Given the description of an element on the screen output the (x, y) to click on. 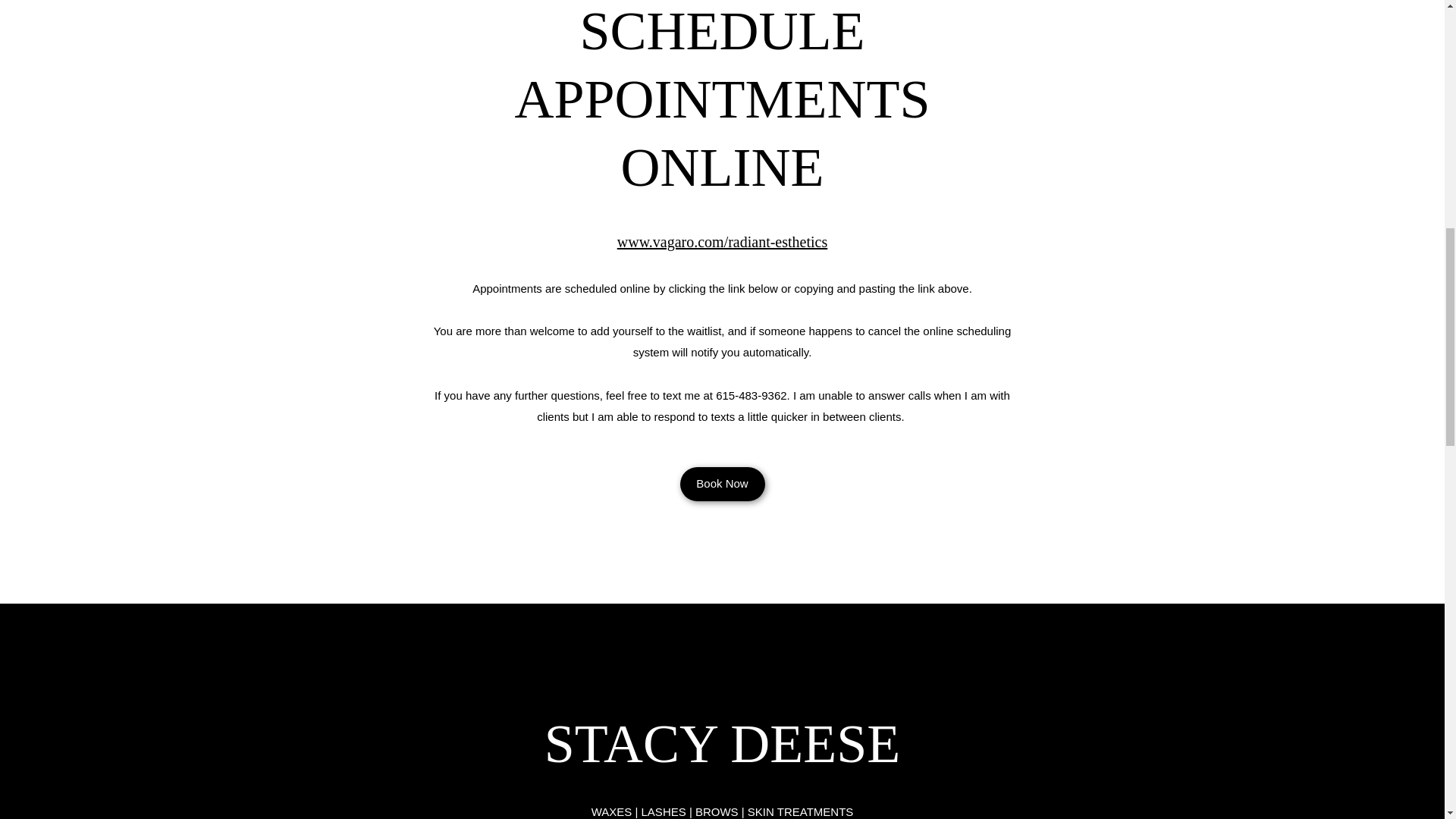
Book Now (721, 483)
